Given the description of an element on the screen output the (x, y) to click on. 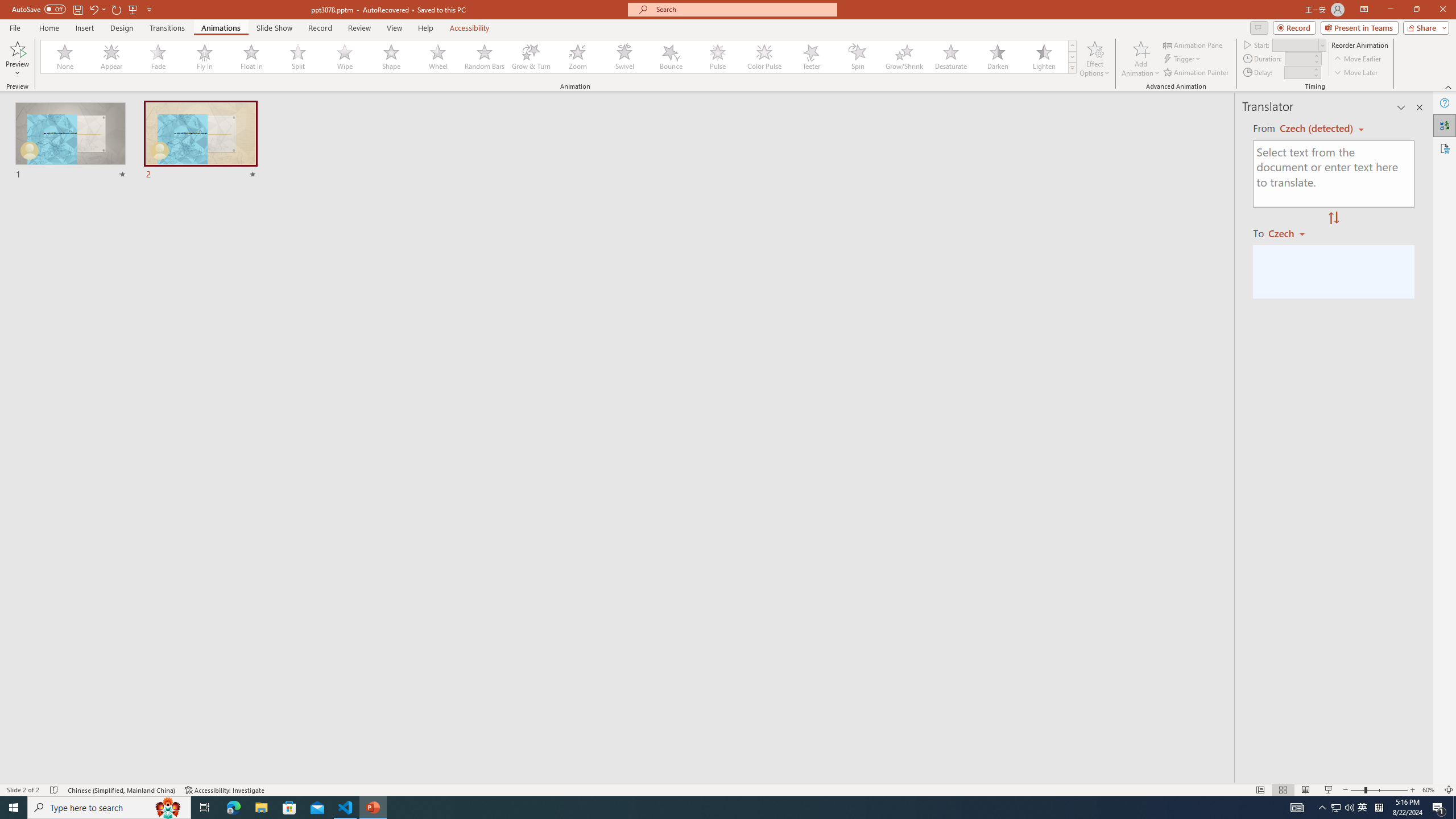
Adjust indents and spacing - Microsoft Support (689, 550)
wangyian_dsw - DSW (689, 715)
Run and Debug (Ctrl+Shift+D) (76, 353)
wangyian_webcrawler - DSW (913, 385)
